Given the description of an element on the screen output the (x, y) to click on. 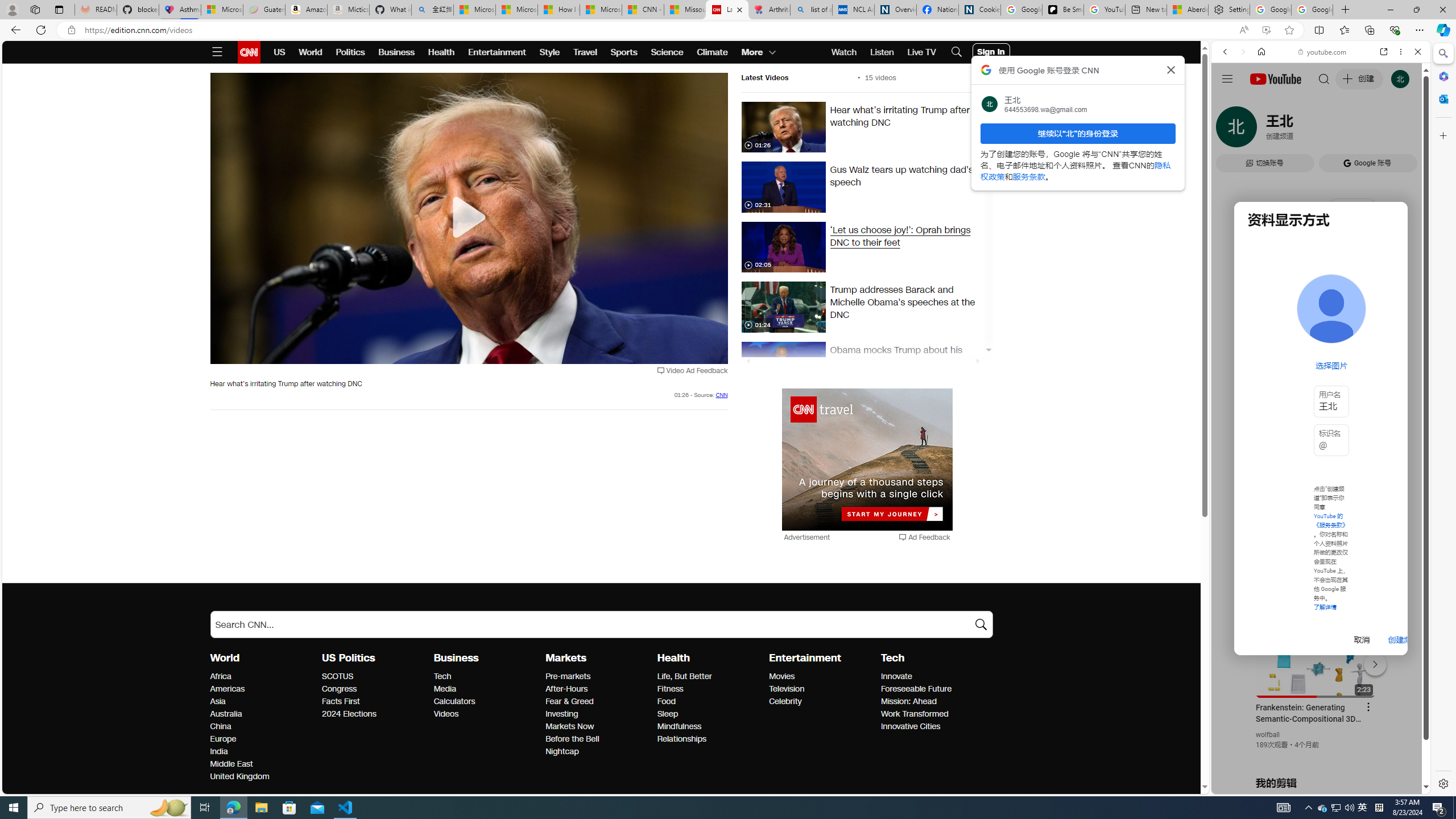
Mission: Ahead (932, 701)
China (262, 726)
Television (820, 688)
Movies (820, 676)
Tech Innovate (896, 676)
Markets Pre-markets (568, 676)
United Kingdom (262, 776)
Open Menu Icon (216, 52)
